Given the description of an element on the screen output the (x, y) to click on. 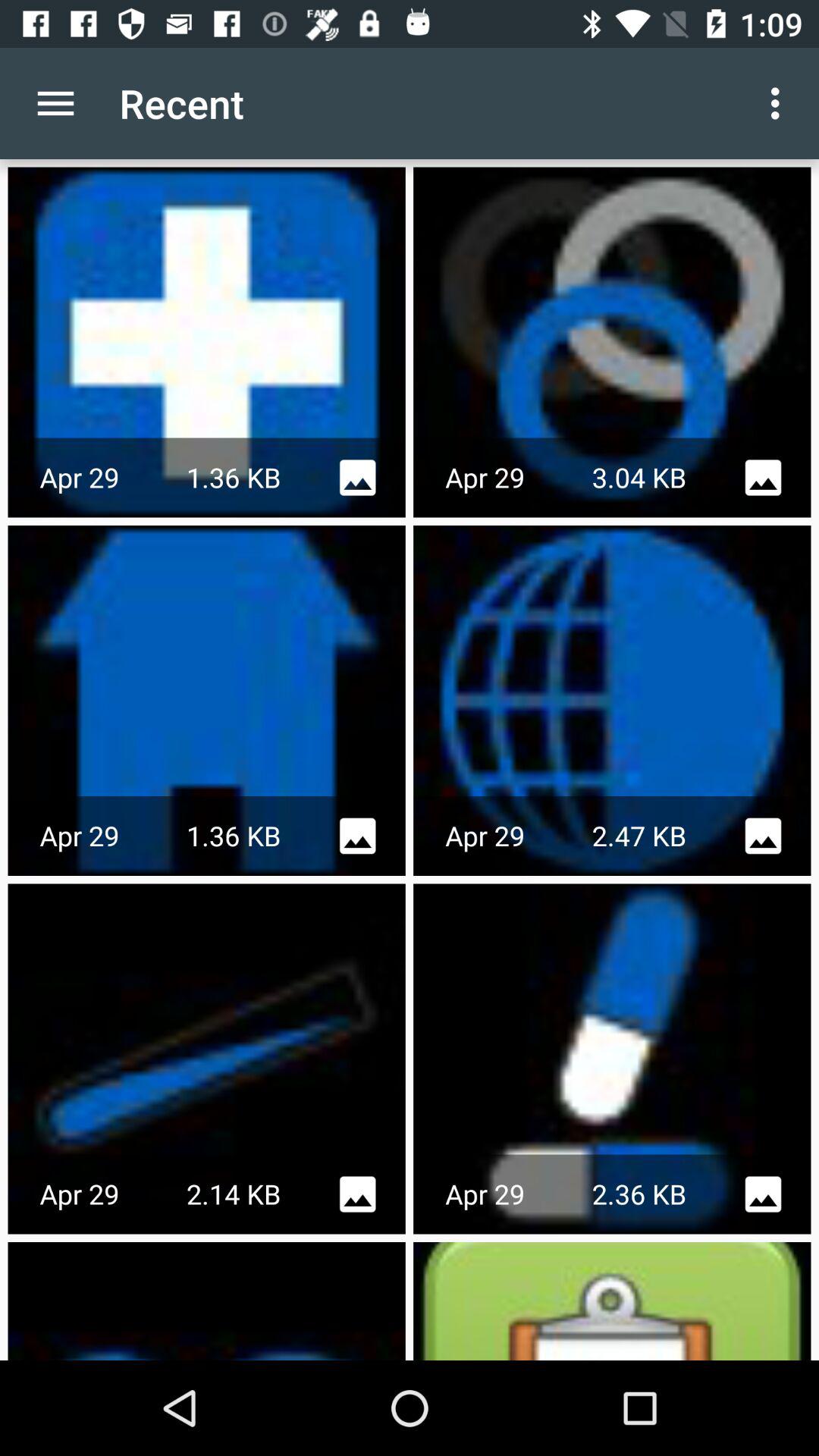
launch app next to recent item (55, 103)
